Given the description of an element on the screen output the (x, y) to click on. 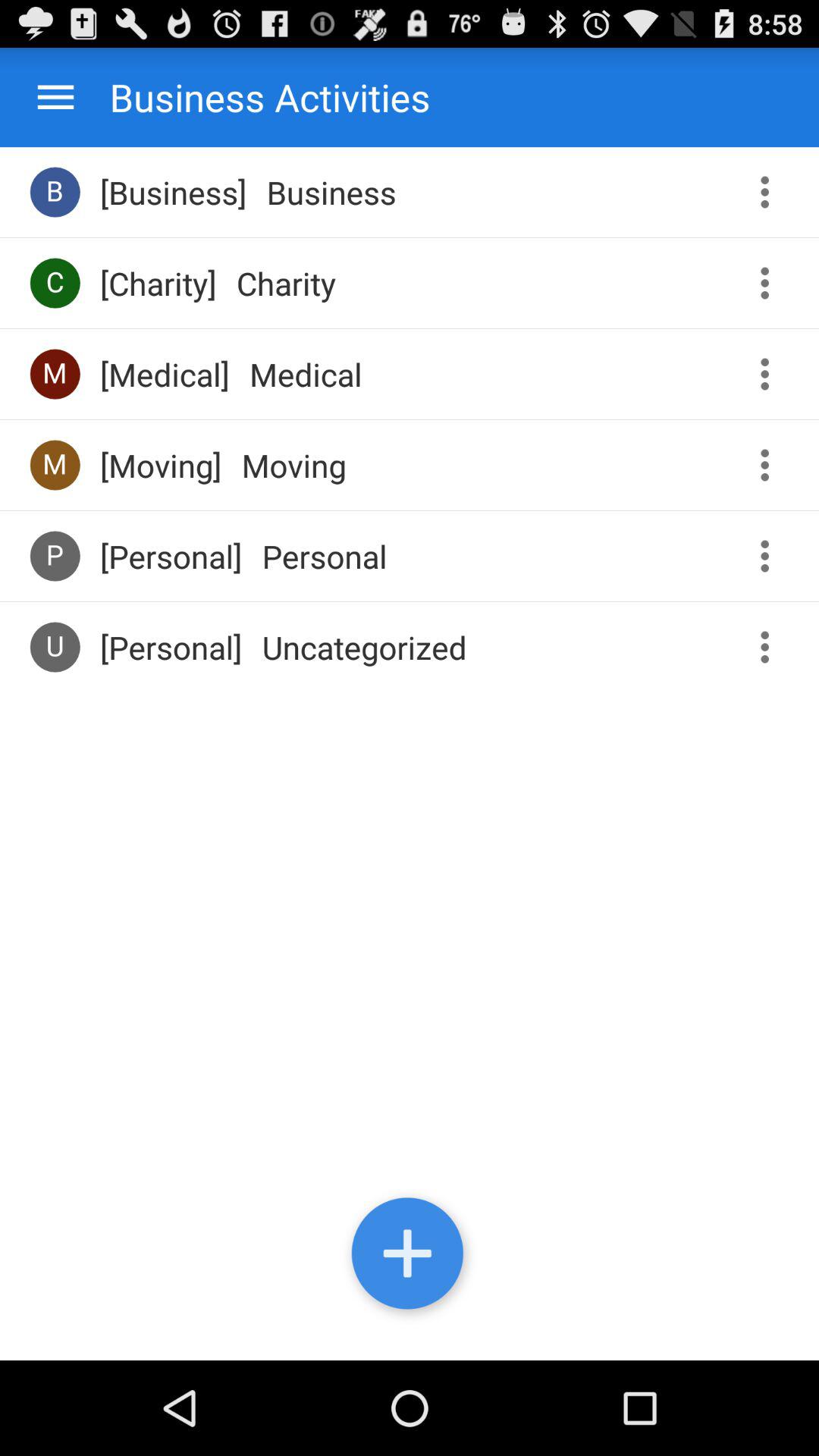
turn off the b item (54, 191)
